Given the description of an element on the screen output the (x, y) to click on. 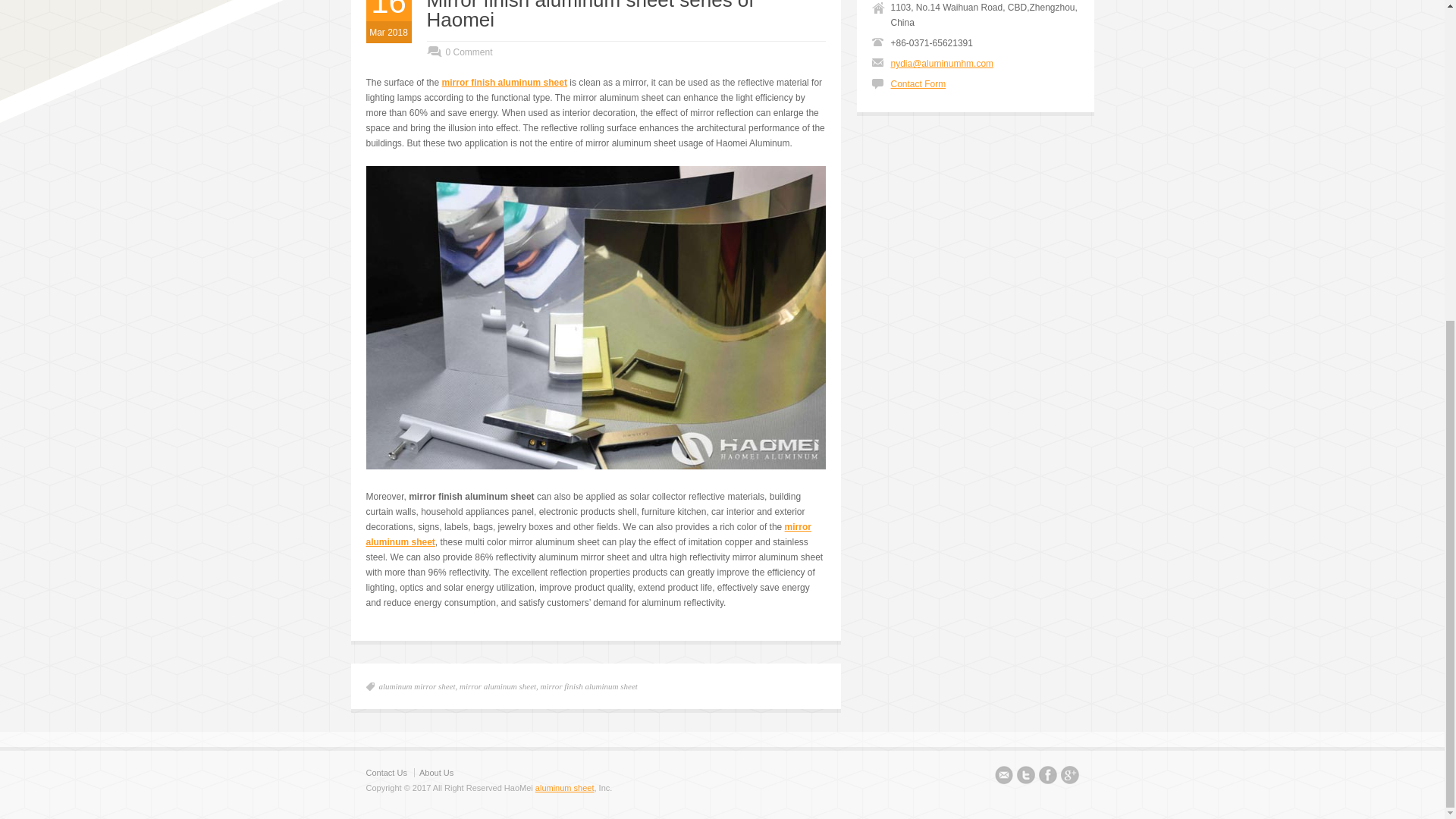
aluminum sheet (564, 787)
Mirror finish aluminum sheet series of Haomei (590, 15)
Contact Us (385, 772)
0 Comment (459, 52)
aluminum mirror sheet (416, 685)
About Us (435, 772)
mirror aluminum sheet (587, 534)
Contact Form (916, 83)
Contact Form (916, 83)
aluminum sheet (564, 787)
Mirror finish aluminum sheet series of Haomei (590, 15)
mirror aluminum sheet (497, 685)
mirror finish aluminum sheet (504, 81)
mirror finish aluminum sheet (588, 685)
